Given the description of an element on the screen output the (x, y) to click on. 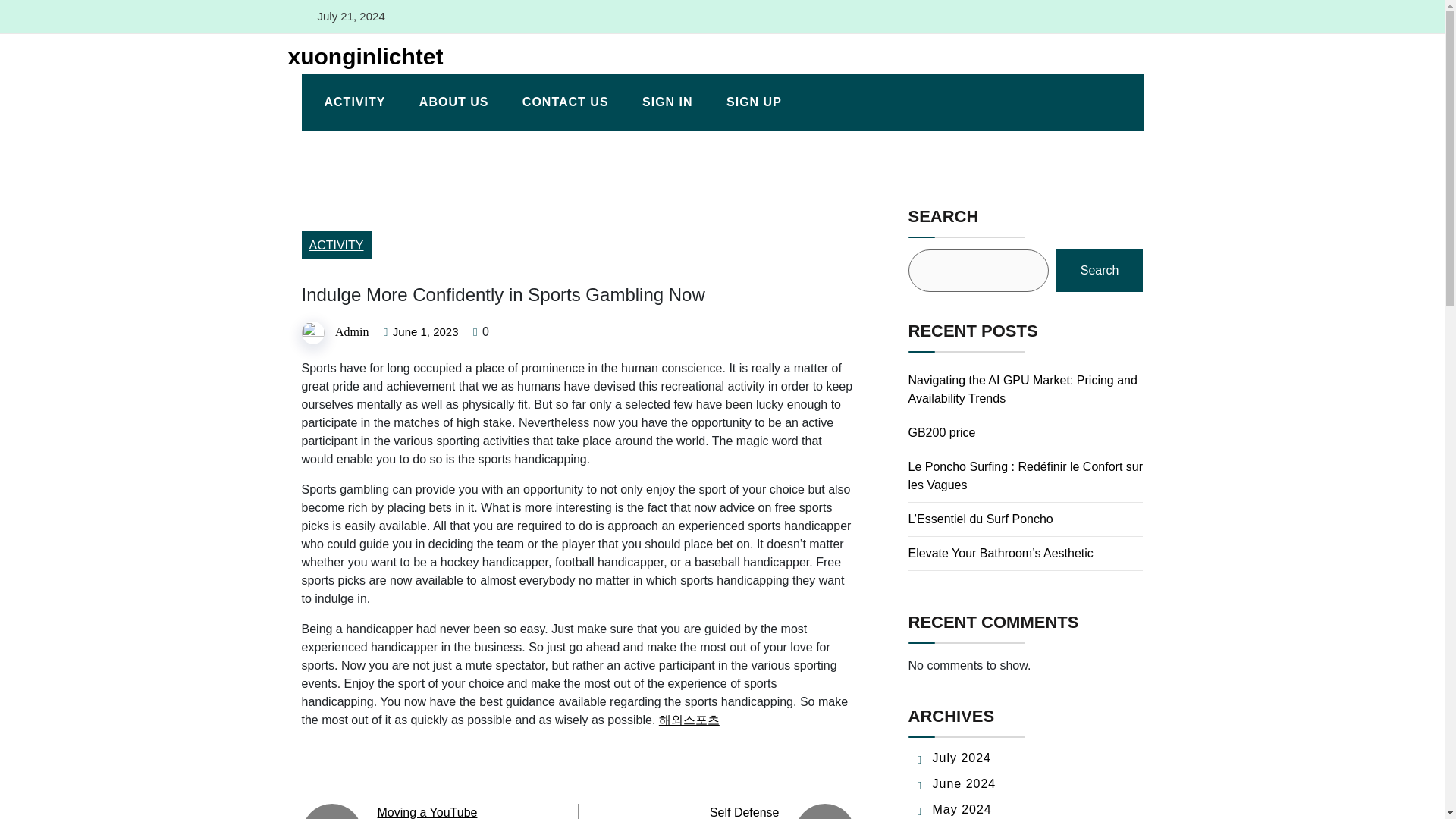
SIGN IN (667, 102)
xuonginlichtet (359, 56)
ACTIVITY (336, 244)
July 2024 (962, 757)
SIGN UP (753, 102)
Search (1099, 270)
CONTACT US (565, 102)
Admin (351, 331)
ABOUT US (453, 102)
xuonginlichtet (359, 56)
Moving a YouTube Video to Facebook (428, 812)
June 1, 2023 (425, 331)
ACTIVITY (354, 102)
May 2024 (962, 809)
